Given the description of an element on the screen output the (x, y) to click on. 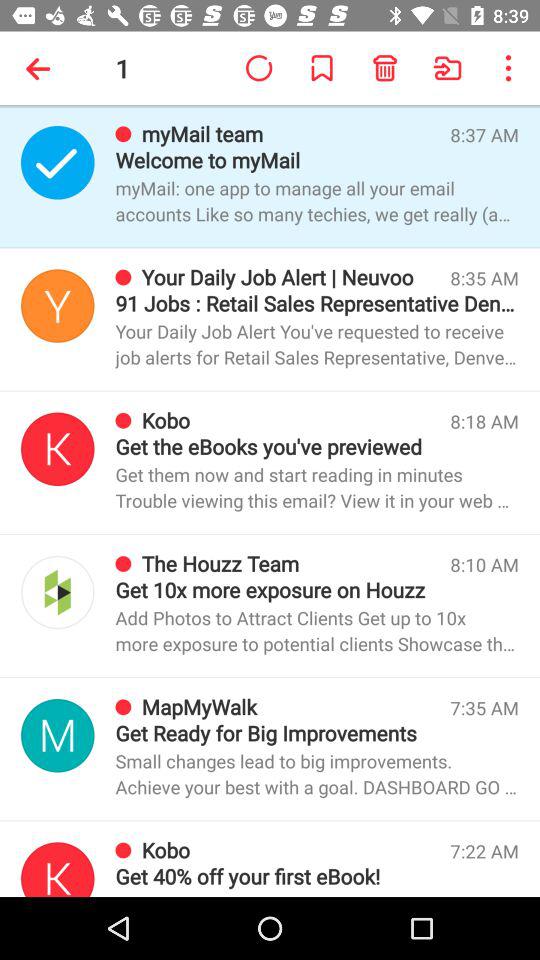
turn off the item to the right of the 1 item (258, 67)
